Given the description of an element on the screen output the (x, y) to click on. 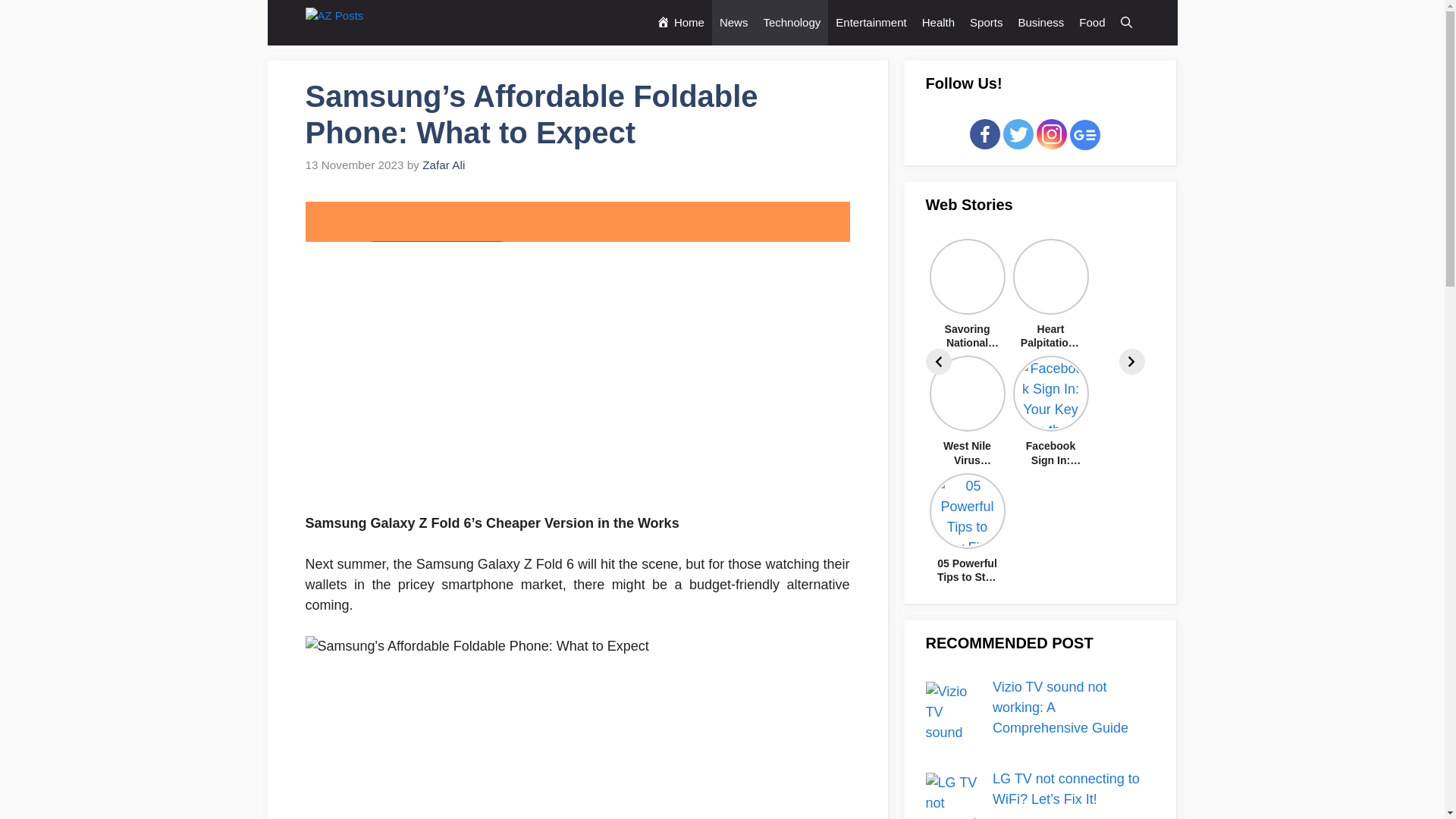
Health (938, 22)
Facebook (984, 133)
Zafar Ali (443, 164)
Food (1091, 22)
Instagram (1051, 133)
AZ Posts (347, 22)
Google News (1085, 134)
Twitter (1018, 133)
View all posts by Zafar Ali (443, 164)
News (733, 22)
Vizio TV sound not working: A Comprehensive Guide (1060, 707)
Technology (791, 22)
Home (680, 22)
Entertainment (871, 22)
Sports (986, 22)
